Given the description of an element on the screen output the (x, y) to click on. 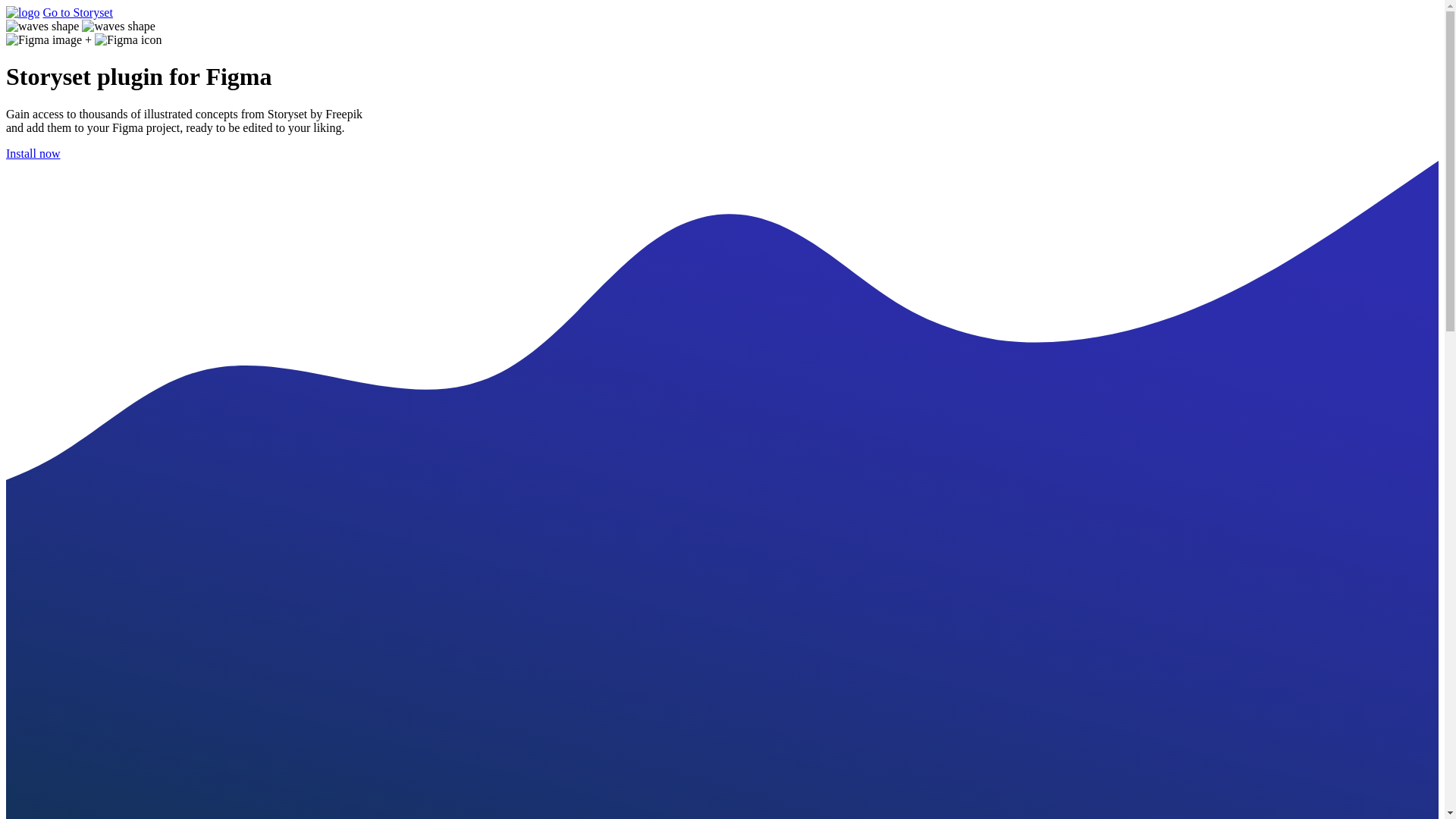
Install now (33, 153)
Go to Storyset (77, 11)
